Given the description of an element on the screen output the (x, y) to click on. 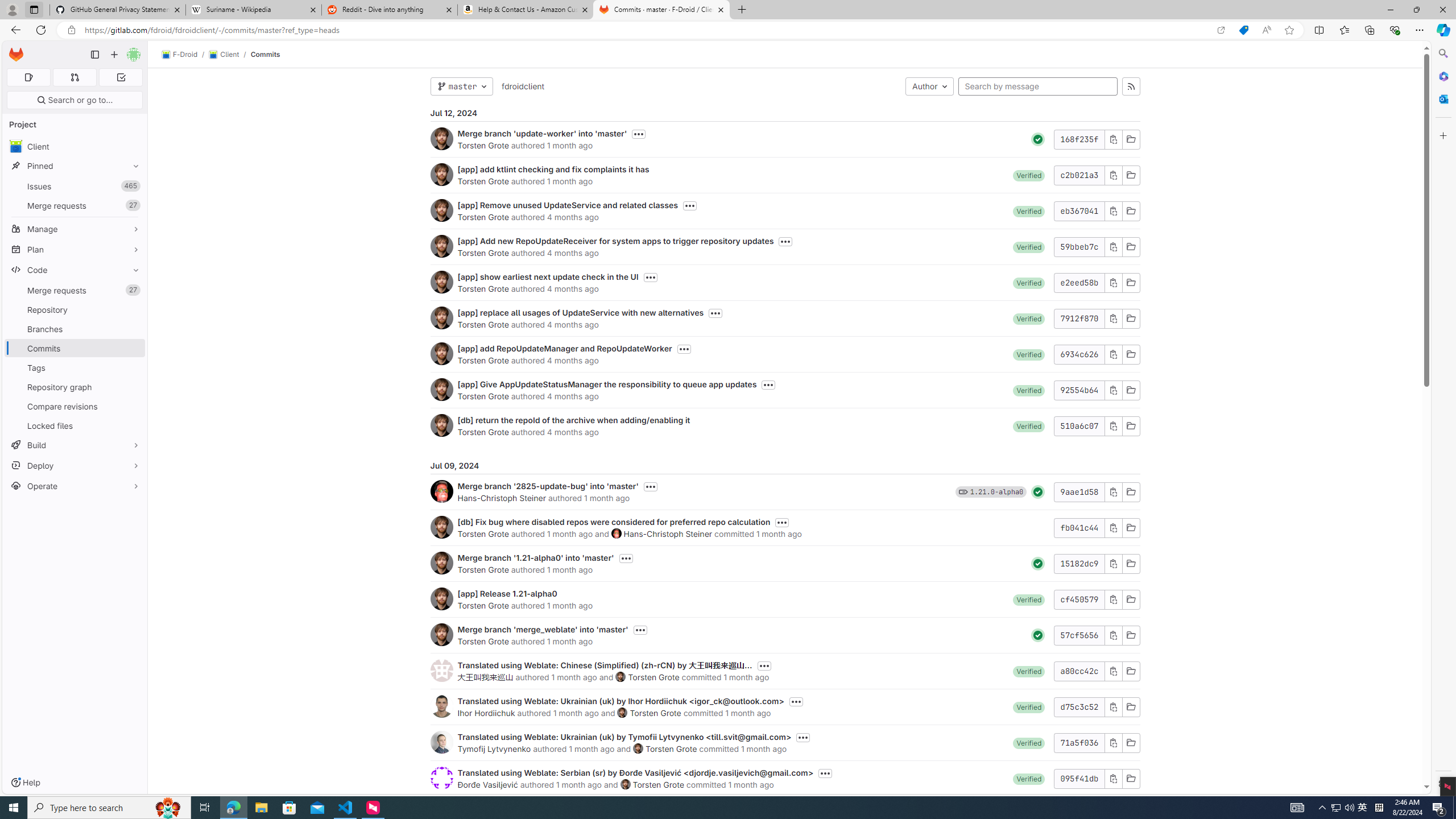
[app] show earliest next update check in the UI (548, 276)
Reddit - Dive into anything (390, 9)
Pin Repository (132, 309)
App bar (728, 29)
Microsoft 365 (1442, 76)
New Tab (741, 9)
Torsten Grote's avatar (625, 783)
Branches (74, 328)
[app] Release 1.21-alpha0 (507, 593)
Tags (74, 367)
Tymofij Lytvynenko's avatar (440, 741)
Pin Tags (132, 367)
